Given the description of an element on the screen output the (x, y) to click on. 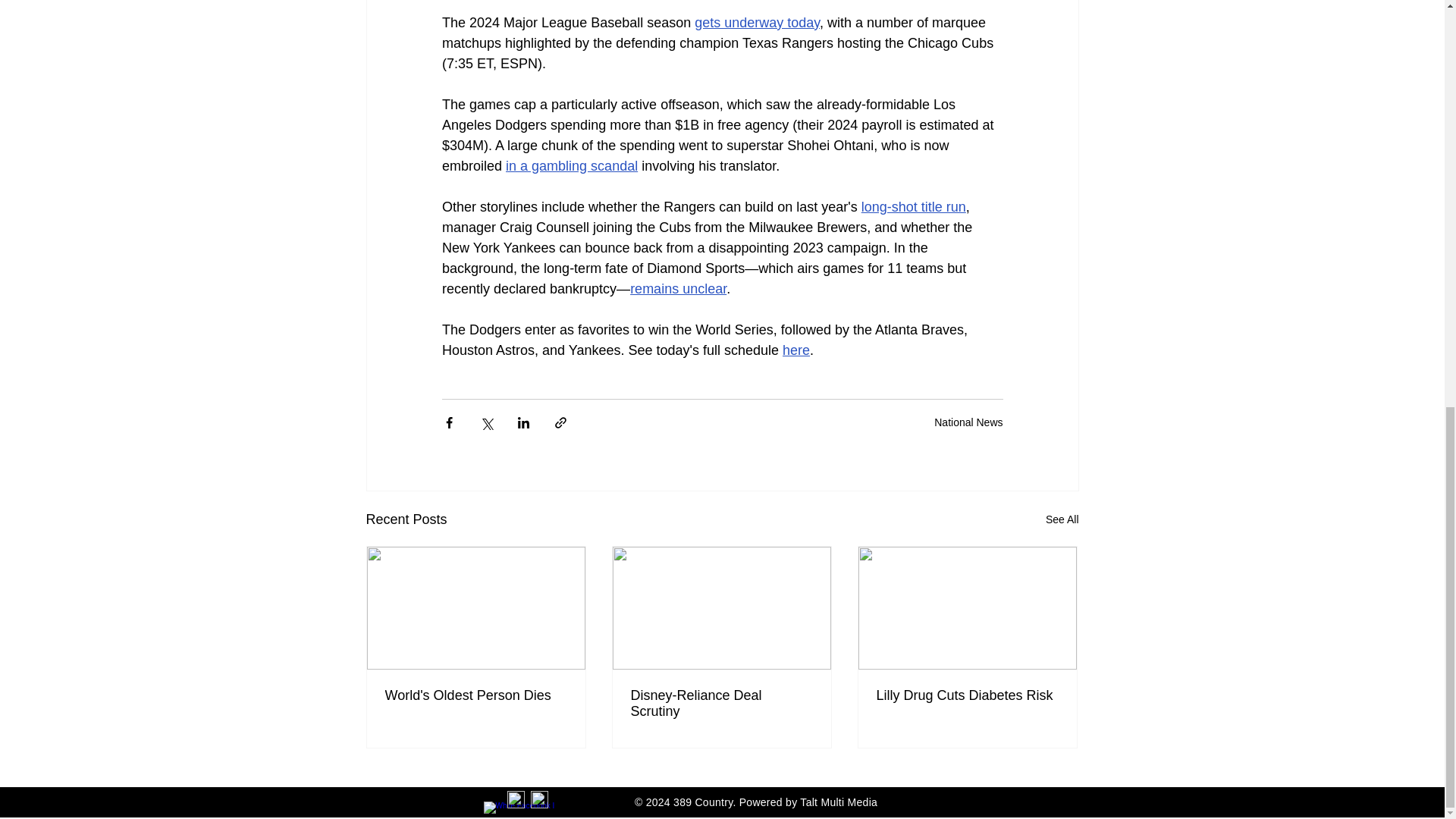
in a gambling scandal (571, 165)
National News (968, 422)
remains unclear (678, 288)
gets underway today (756, 22)
World's Oldest Person Dies (476, 695)
long-shot title run (912, 206)
here (796, 350)
See All (1061, 519)
